Given the description of an element on the screen output the (x, y) to click on. 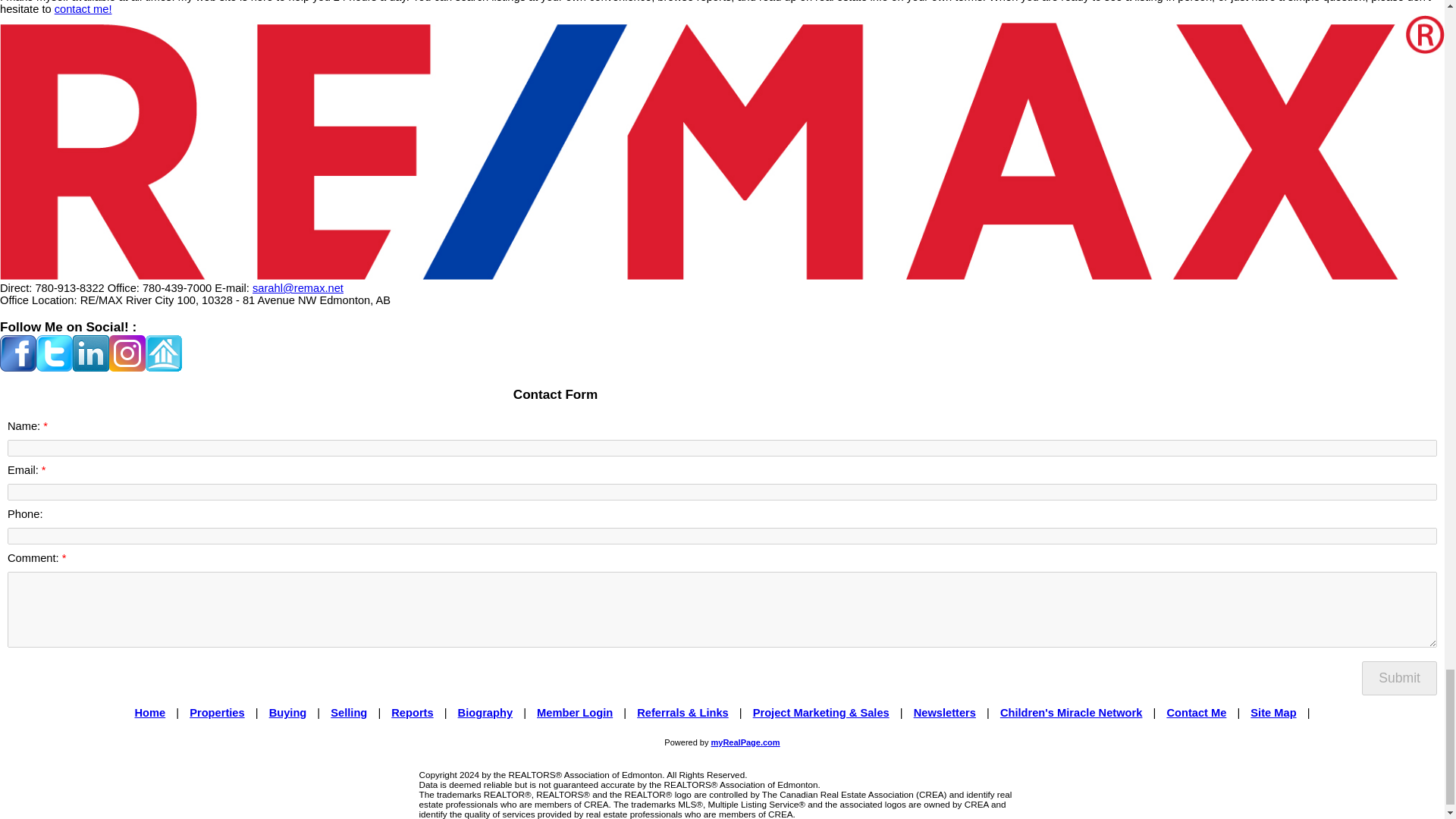
Contact Me (1195, 712)
Reports (411, 712)
Buying (288, 712)
Children's Miracle Network (1071, 712)
Selling (348, 712)
Properties (216, 712)
Newsletters (944, 712)
Member Login (574, 712)
Biography (485, 712)
Home (149, 712)
Site Map (1272, 712)
